Given the description of an element on the screen output the (x, y) to click on. 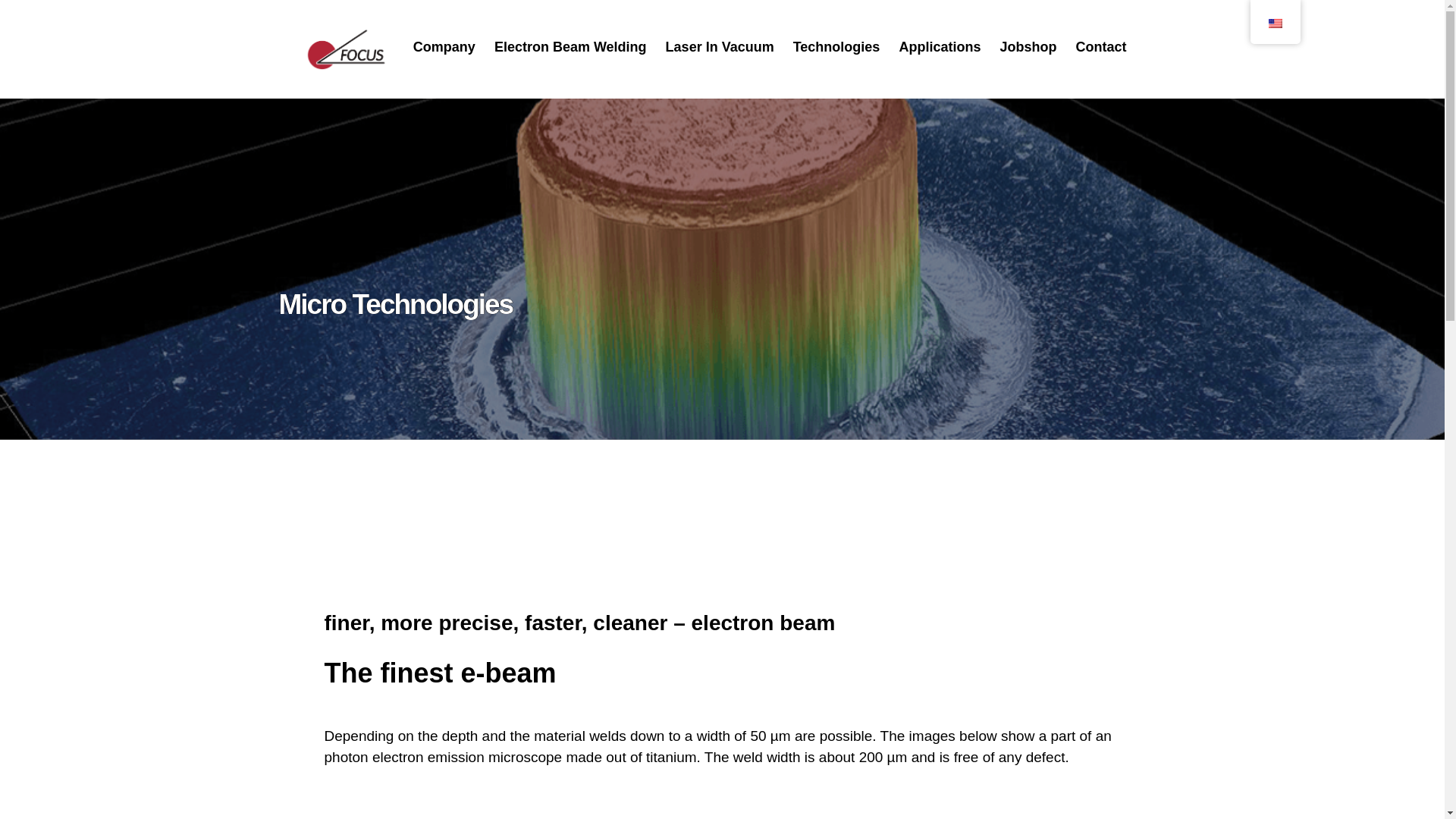
English (1274, 22)
Company (444, 46)
Contact (1100, 46)
Laser In Vacuum (719, 46)
Electron Beam Welding (570, 46)
Jobshop (1027, 46)
Applications (938, 46)
Technologies (836, 46)
